Given the description of an element on the screen output the (x, y) to click on. 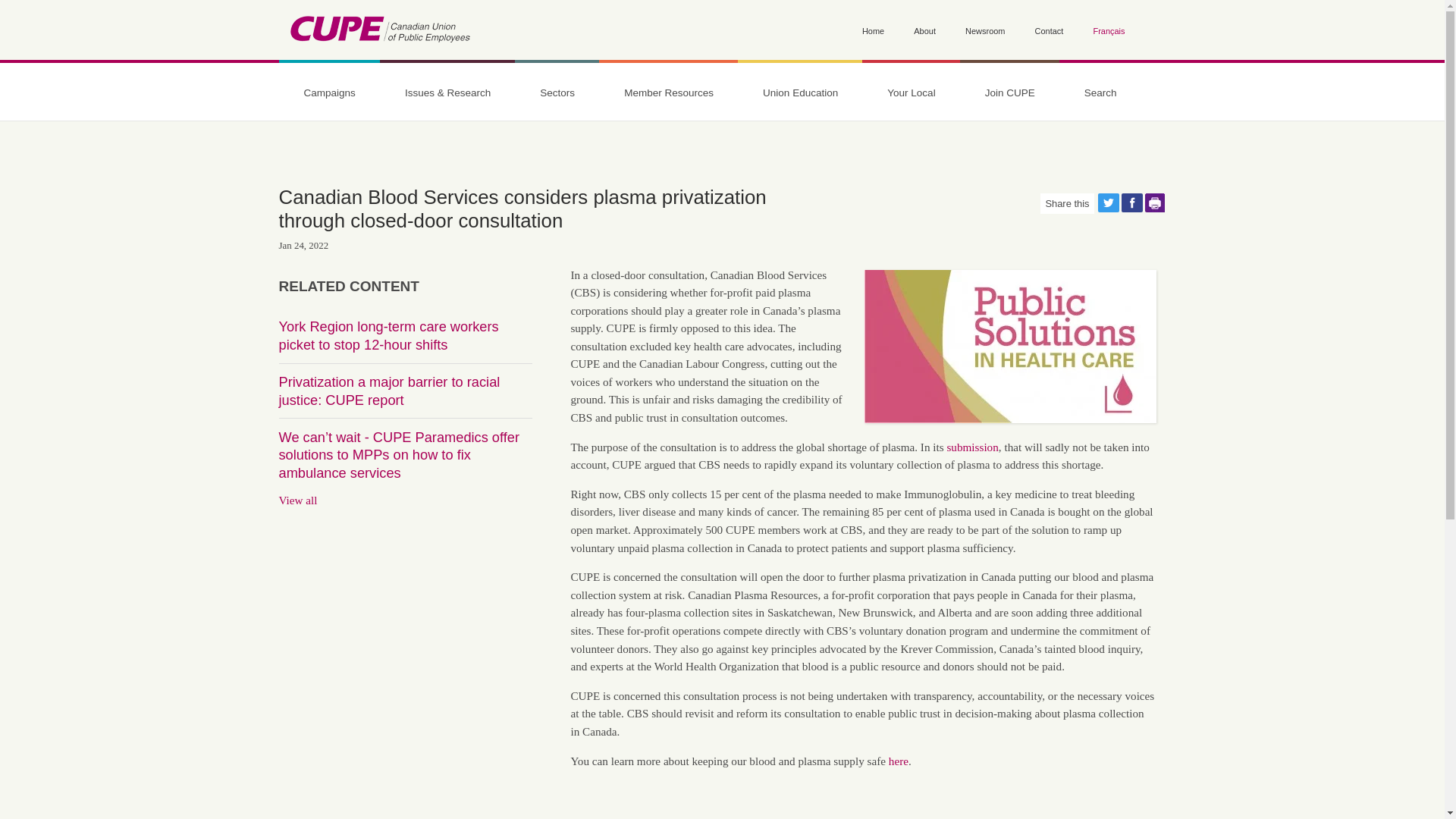
Contact (1049, 31)
About (924, 31)
Your Local (910, 92)
Campaigns (328, 92)
Share this page on Twitter (1108, 202)
Join CUPE (1009, 92)
Search (1100, 92)
Search (300, 201)
Union Education (800, 92)
